Given the description of an element on the screen output the (x, y) to click on. 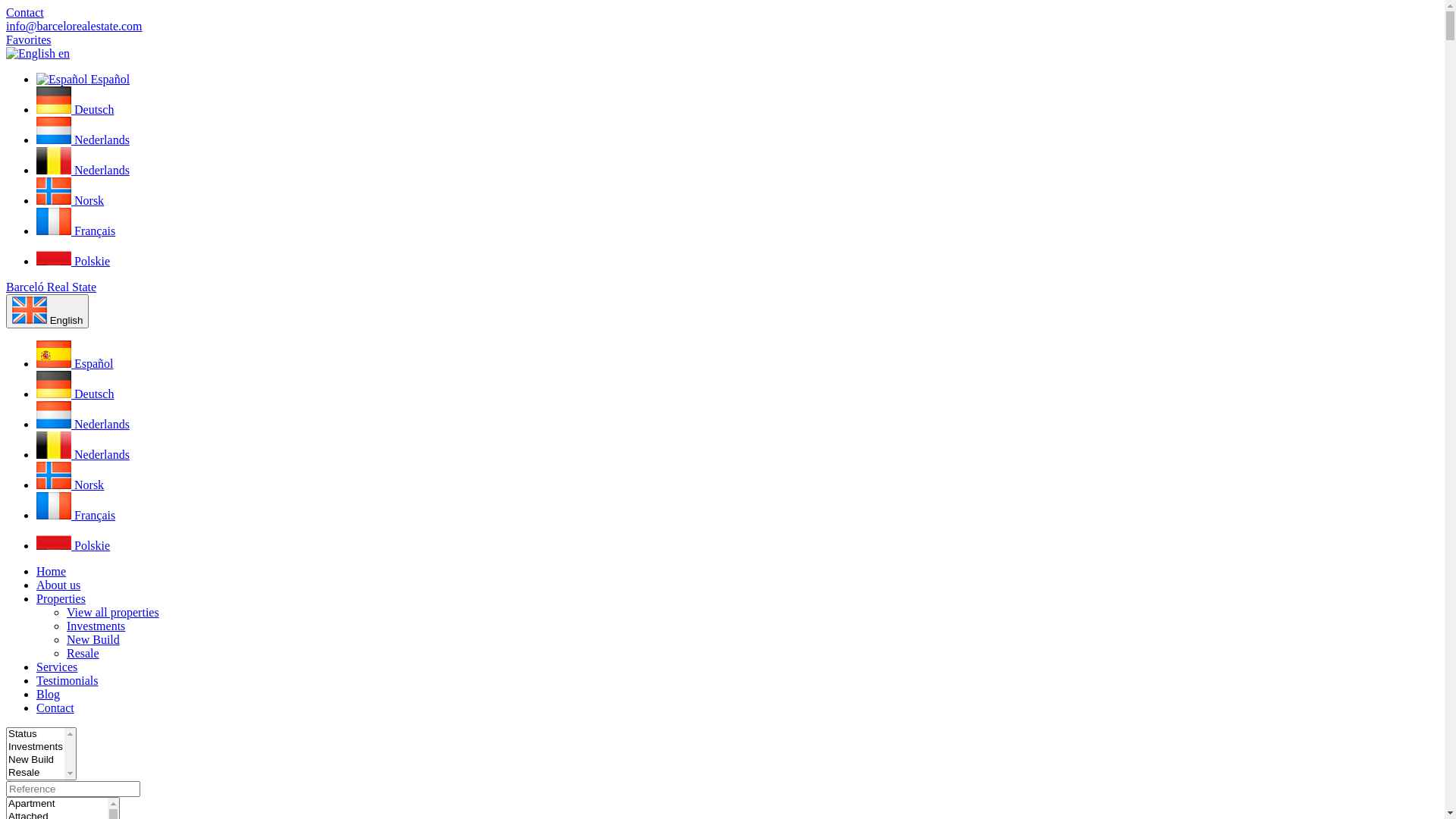
Nederlands Element type: text (82, 139)
New Build Element type: text (92, 639)
en Element type: text (37, 53)
Home Element type: text (50, 570)
Nederlands Element type: text (82, 169)
Investments Element type: text (95, 625)
Contact Element type: text (55, 707)
Services Element type: text (56, 666)
Deutsch Element type: text (74, 109)
View all properties Element type: text (112, 611)
About us Element type: text (58, 584)
Favorites Element type: text (28, 39)
info@barcelorealestate.com Element type: text (74, 25)
Resale Element type: text (82, 652)
Deutsch Element type: text (74, 393)
Polskie Element type: text (72, 260)
Properties Element type: text (60, 598)
Nederlands Element type: text (82, 454)
Norsk Element type: text (69, 200)
Contact Element type: text (24, 12)
Blog Element type: text (47, 693)
Norsk Element type: text (69, 484)
English Element type: text (47, 311)
Testimonials Element type: text (67, 680)
Polskie Element type: text (72, 545)
Nederlands Element type: text (82, 423)
